Given the description of an element on the screen output the (x, y) to click on. 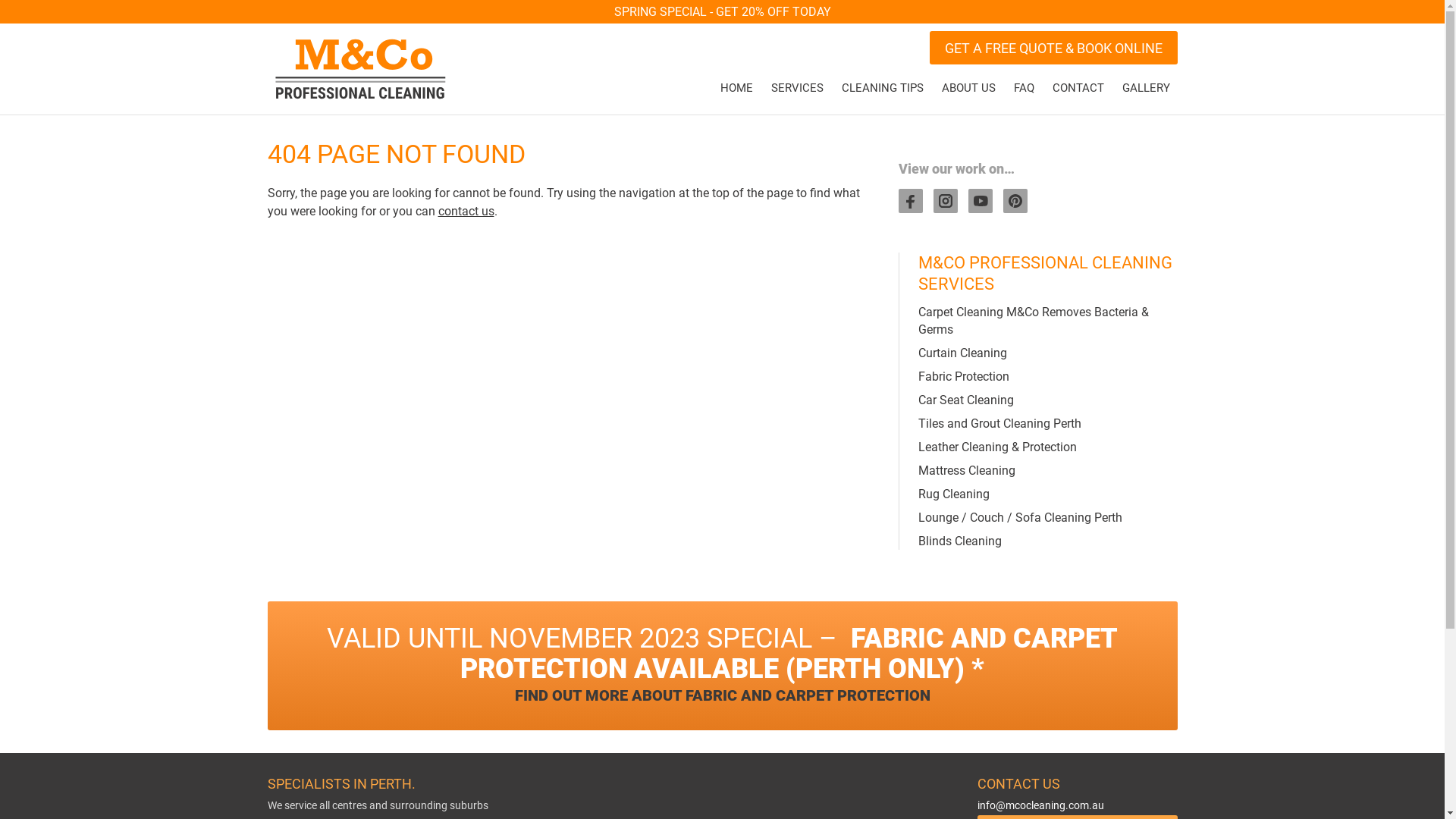
contact us Element type: text (466, 210)
Blinds Cleaning Element type: text (959, 540)
Tiles and Grout Cleaning Perth Element type: text (998, 423)
Car Seat Cleaning Element type: text (965, 399)
Rug Cleaning Element type: text (952, 493)
FAQ Element type: text (1023, 88)
ABOUT US Element type: text (968, 88)
Mattress Cleaning Element type: text (965, 470)
GALLERY Element type: text (1145, 88)
GET A FREE QUOTE & BOOK ONLINE Element type: text (1053, 47)
info@mcocleaning.com.au Element type: text (1076, 805)
CLEANING TIPS Element type: text (882, 88)
Fabric Protection Element type: text (962, 376)
Curtain Cleaning Element type: text (961, 352)
Carpet Cleaning M&Co Removes Bacteria & Germs Element type: text (1032, 320)
HOME Element type: text (736, 88)
Leather Cleaning & Protection Element type: text (996, 446)
Lounge / Couch / Sofa Cleaning Perth Element type: text (1019, 517)
CONTACT Element type: text (1077, 88)
FIND OUT MORE ABOUT FABRIC AND CARPET PROTECTION Element type: text (721, 695)
SERVICES Element type: text (796, 88)
